Given the description of an element on the screen output the (x, y) to click on. 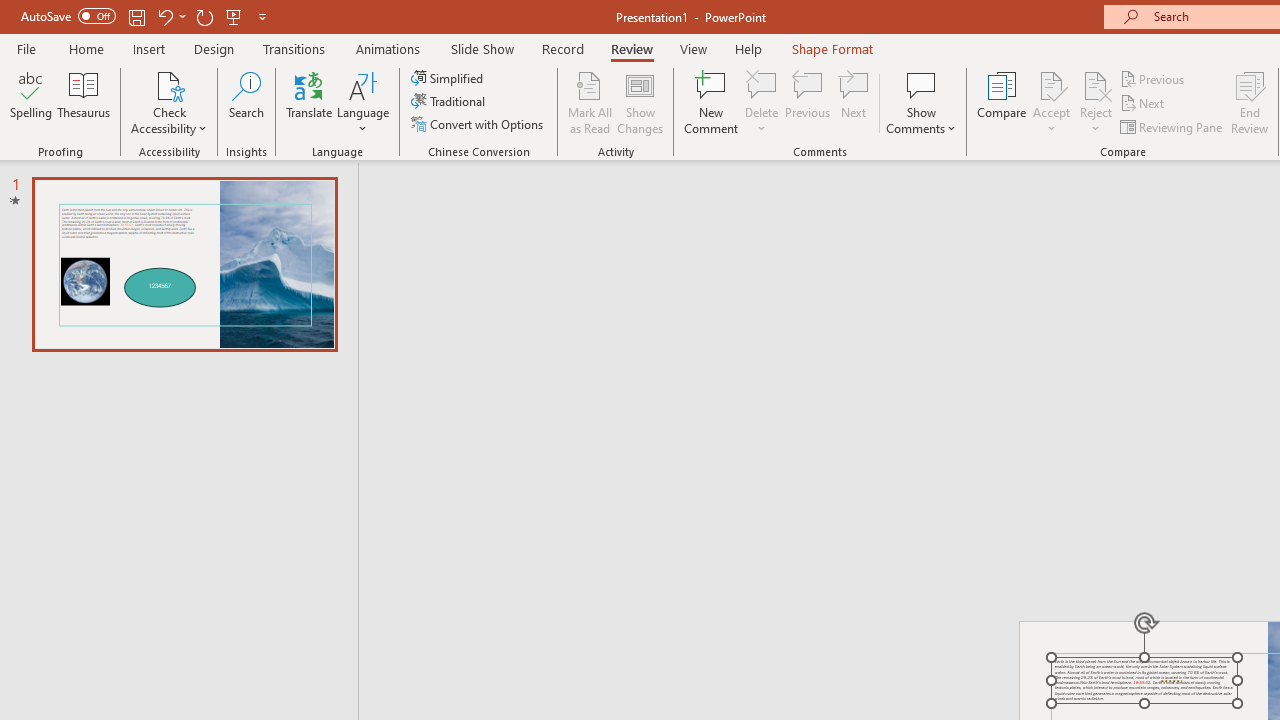
Reviewing Pane (1172, 126)
Reject (1096, 102)
